Given the description of an element on the screen output the (x, y) to click on. 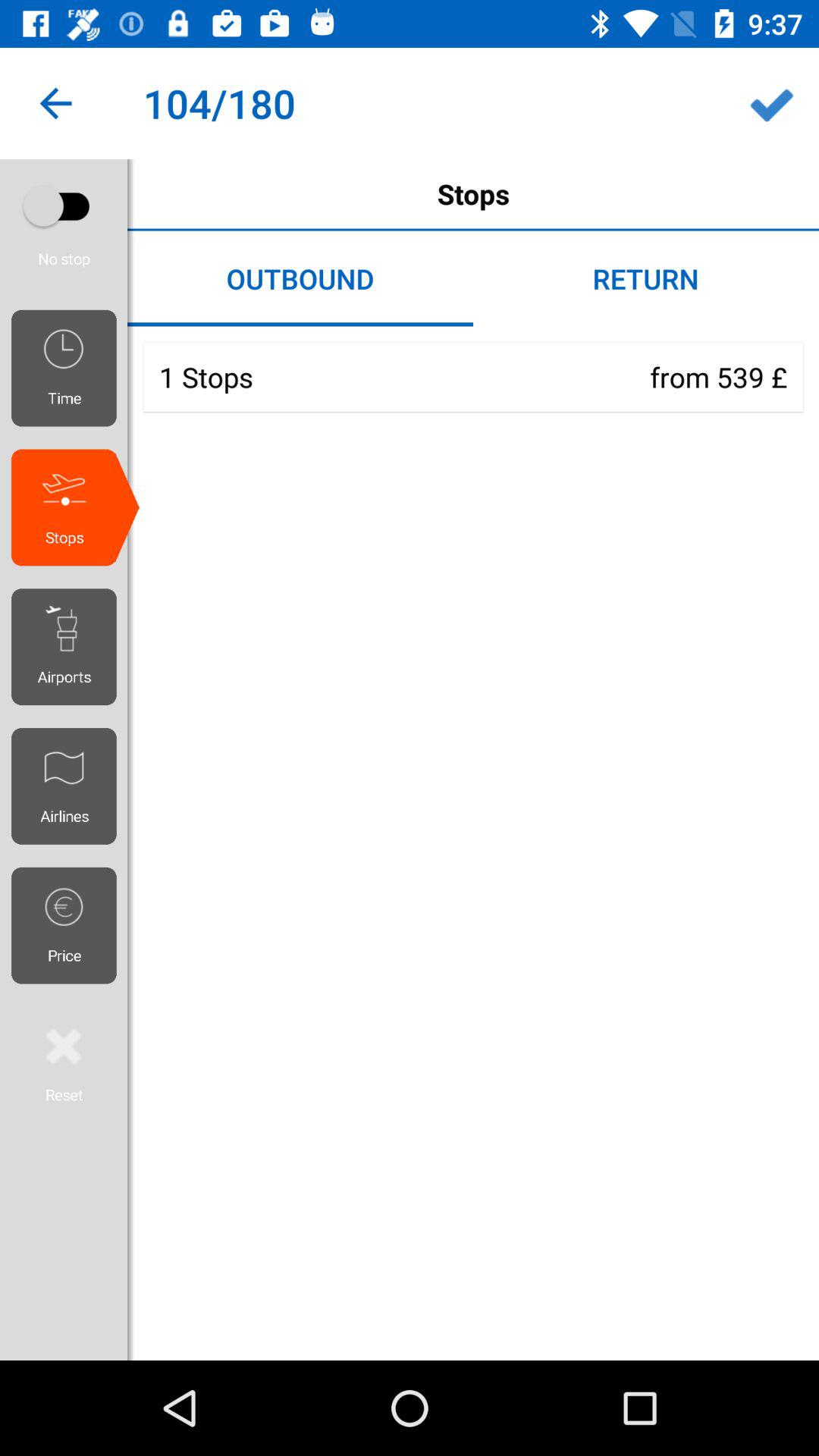
press the item to the left of the outbound item (69, 228)
